Given the description of an element on the screen output the (x, y) to click on. 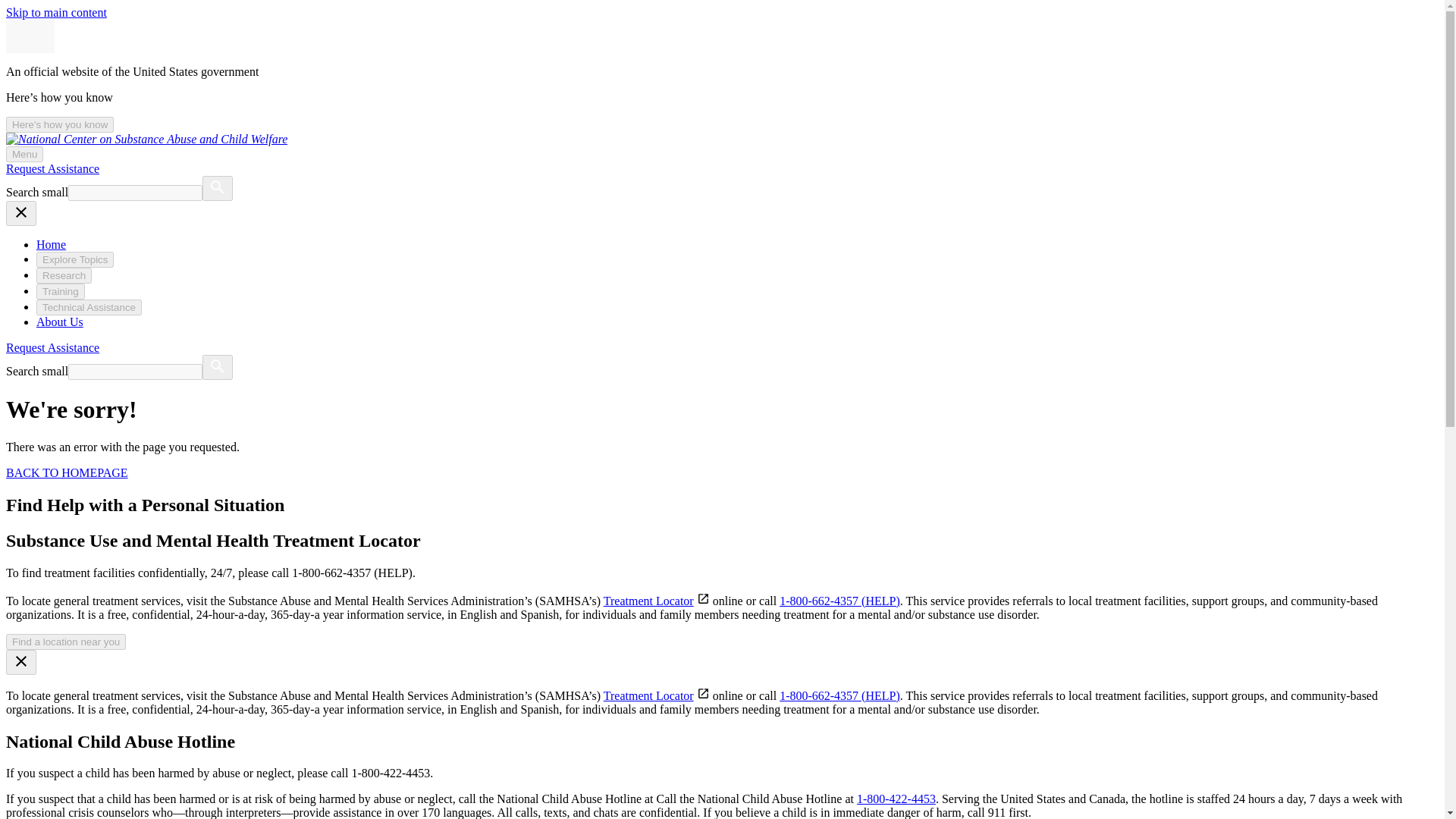
Treatment Locator (649, 695)
Research (63, 275)
Skip to main content (55, 11)
Find a location near you (65, 641)
Menu (24, 154)
BACK TO HOMEPAGE (66, 472)
Request Assistance (52, 168)
Request Assistance (52, 347)
Explore Topics (74, 259)
Training (60, 291)
